Given the description of an element on the screen output the (x, y) to click on. 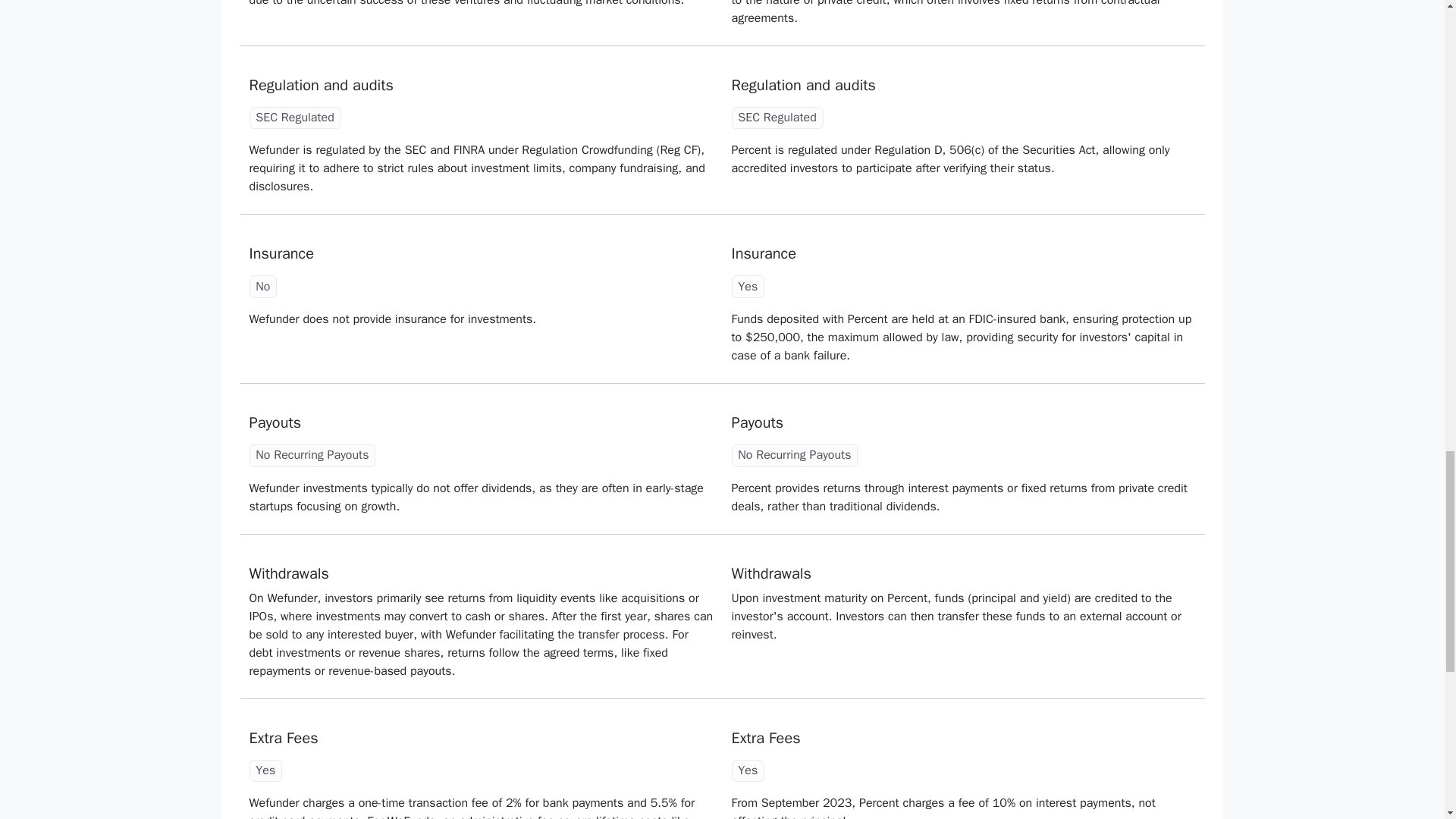
SEC Regulated (295, 117)
No Recurring Payouts (312, 454)
No (262, 287)
No Recurring Payouts (794, 454)
SEC Regulated (777, 117)
Yes (747, 287)
